Given the description of an element on the screen output the (x, y) to click on. 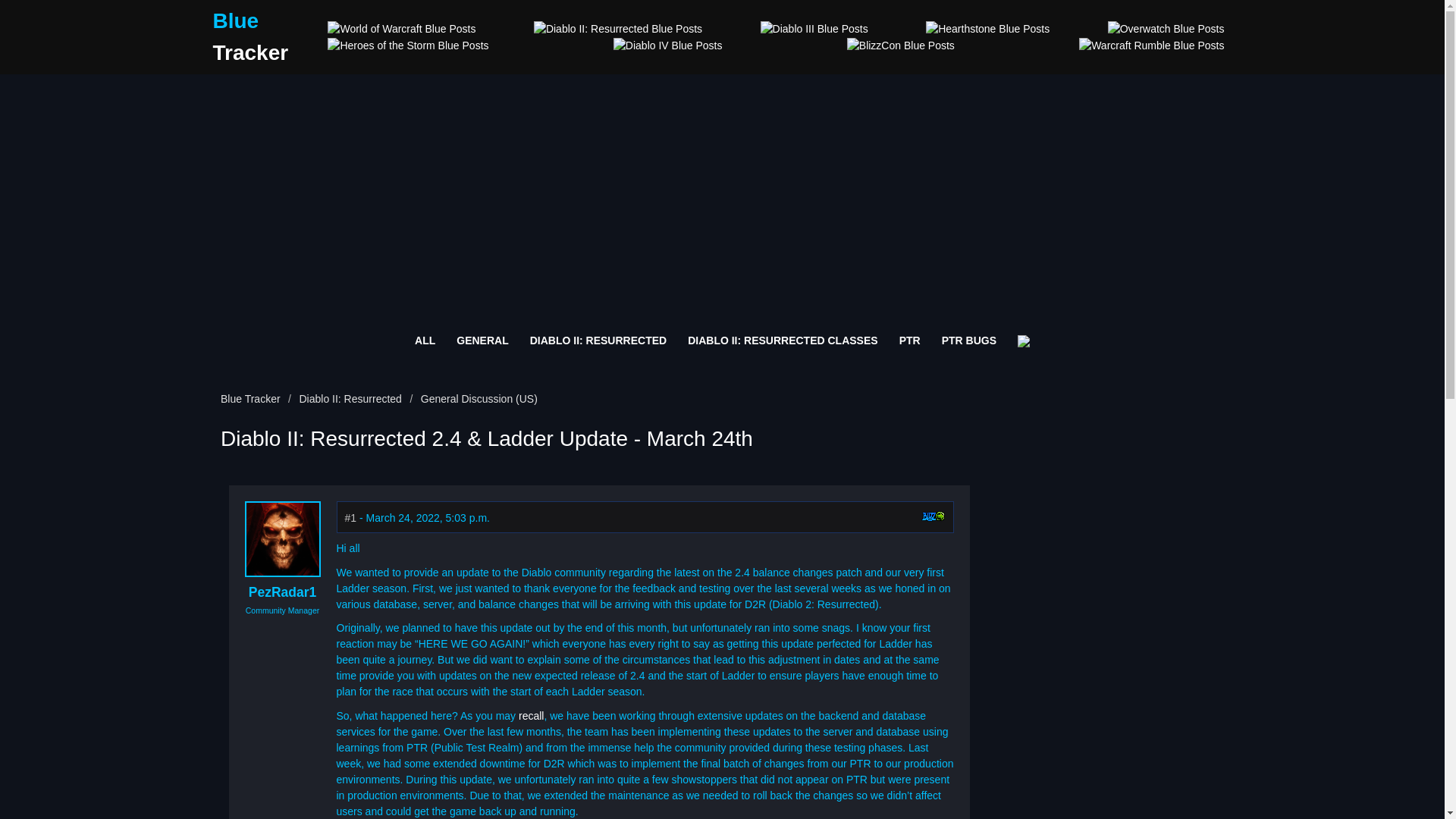
PTR BUGS (969, 340)
recall (530, 715)
GENERAL (481, 340)
DIABLO II: RESURRECTED (598, 340)
Blue Tracker (254, 399)
DIABLO II: RESURRECTED CLASSES (782, 340)
ALL (424, 340)
Blue Tracker (250, 36)
PezRadar1 (282, 591)
Diablo II: Resurrected (350, 399)
